Given the description of an element on the screen output the (x, y) to click on. 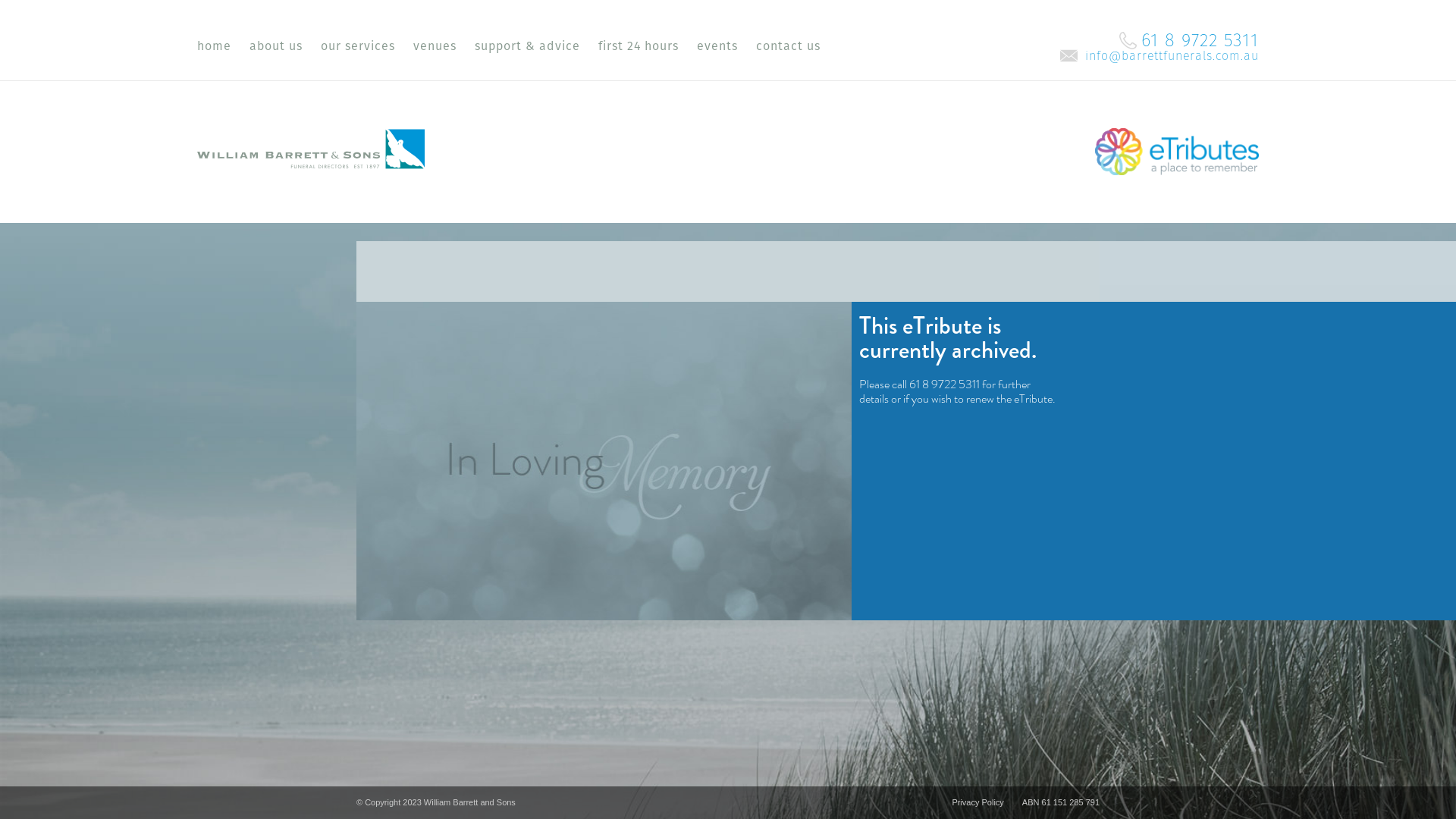
info@barrettfunerals.com.au Element type: text (1159, 55)
about us Element type: text (273, 40)
support & advice Element type: text (525, 40)
events Element type: text (715, 40)
venues Element type: text (432, 40)
contact us Element type: text (785, 40)
home Element type: text (212, 40)
our services Element type: text (355, 40)
first 24 hours Element type: text (636, 40)
